Given the description of an element on the screen output the (x, y) to click on. 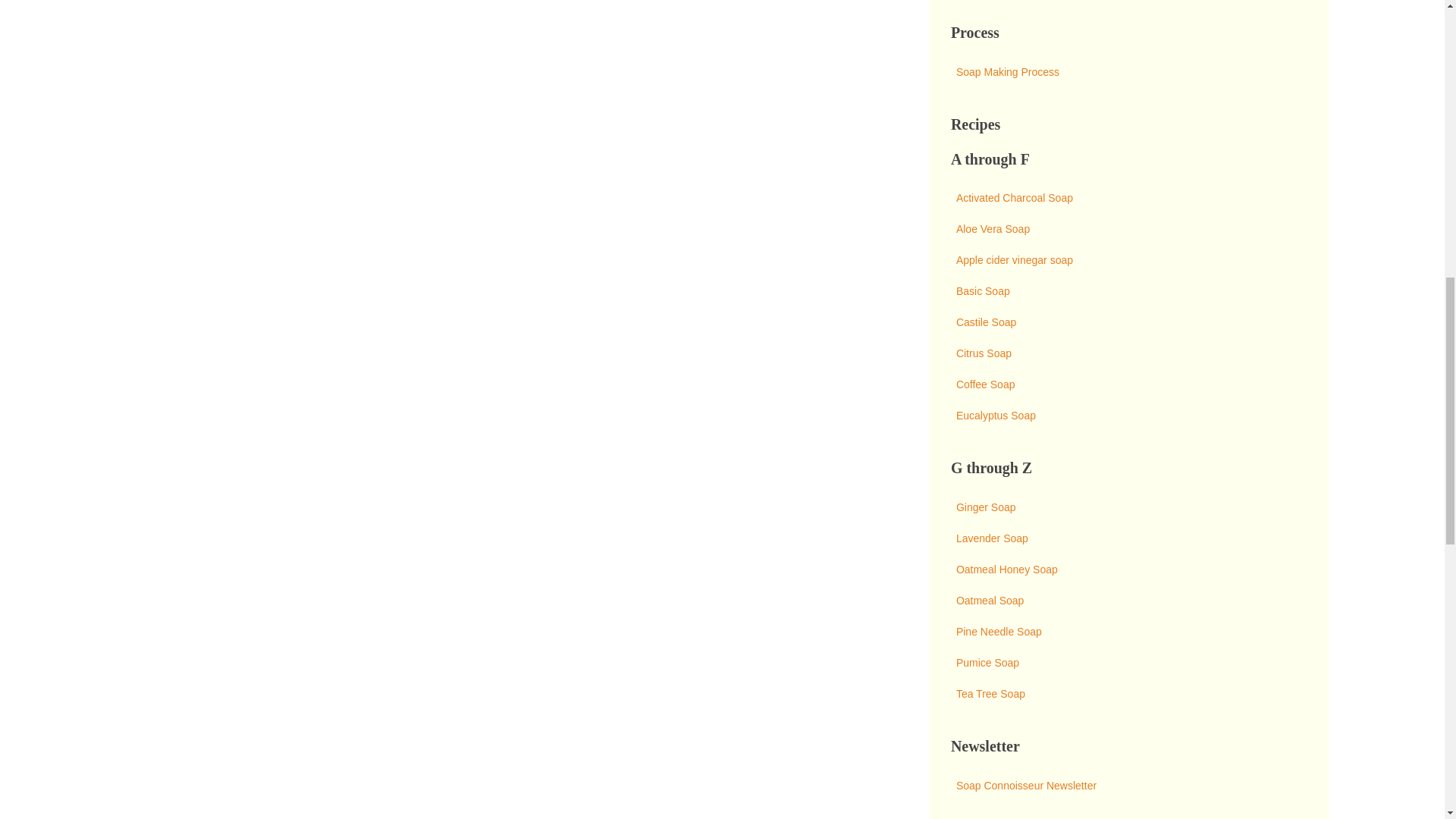
Soap Making Process (1128, 71)
Activated Charcoal Soap (1128, 197)
